Given the description of an element on the screen output the (x, y) to click on. 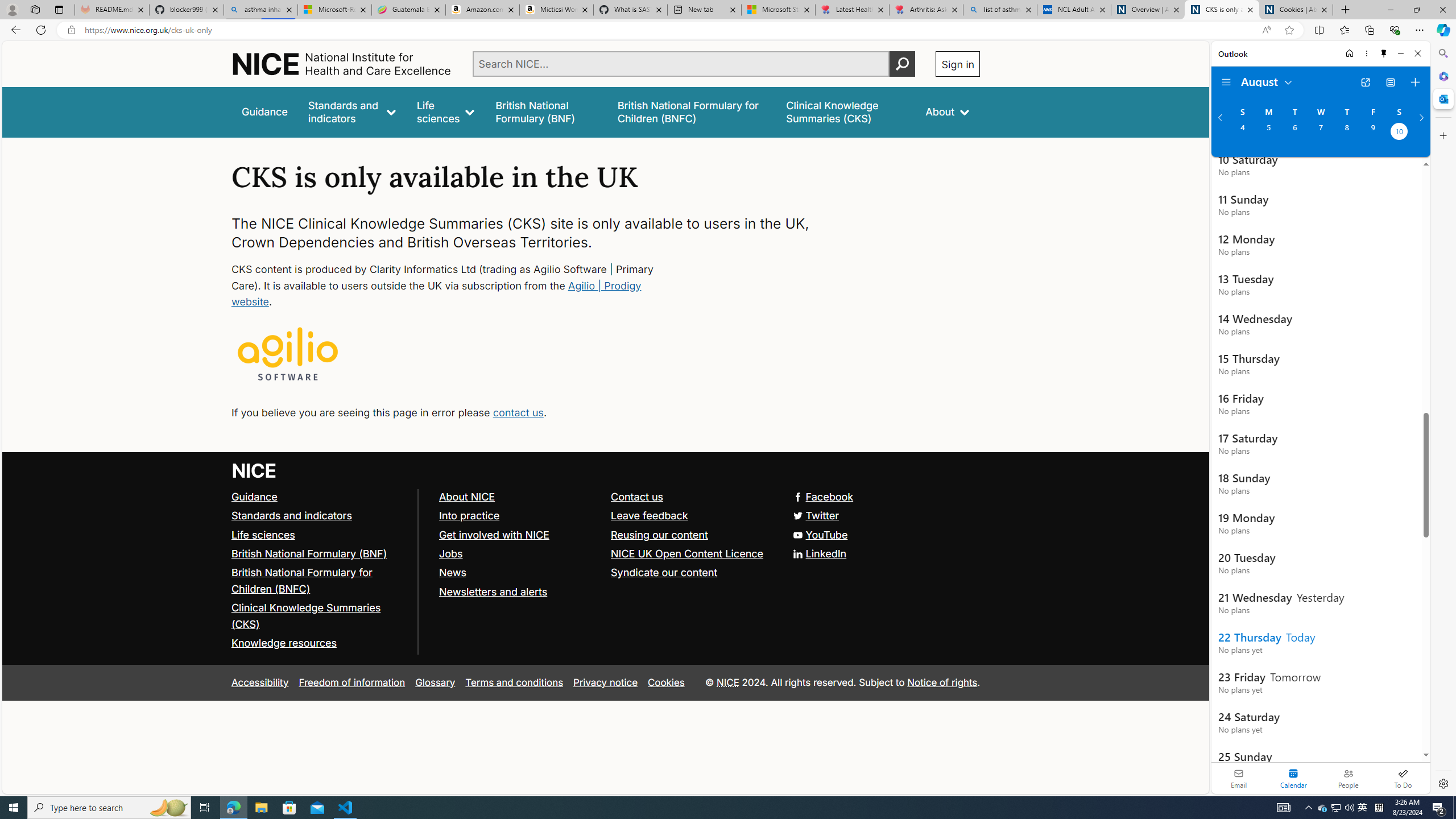
New tab (703, 9)
Newsletters and alerts (492, 591)
contact us (517, 412)
NCL Adult Asthma Inhaler Choice Guideline (1073, 9)
Home (1348, 53)
CKS is only available in the UK | NICE (1221, 9)
Glossary (434, 682)
British National Formulary for Children (BNFC) (319, 580)
Tuesday, August 6, 2024.  (1294, 132)
August (1267, 80)
Contact us (692, 496)
Restore (1416, 9)
Settings (1442, 783)
asthma inhaler - Search (260, 9)
